Given the description of an element on the screen output the (x, y) to click on. 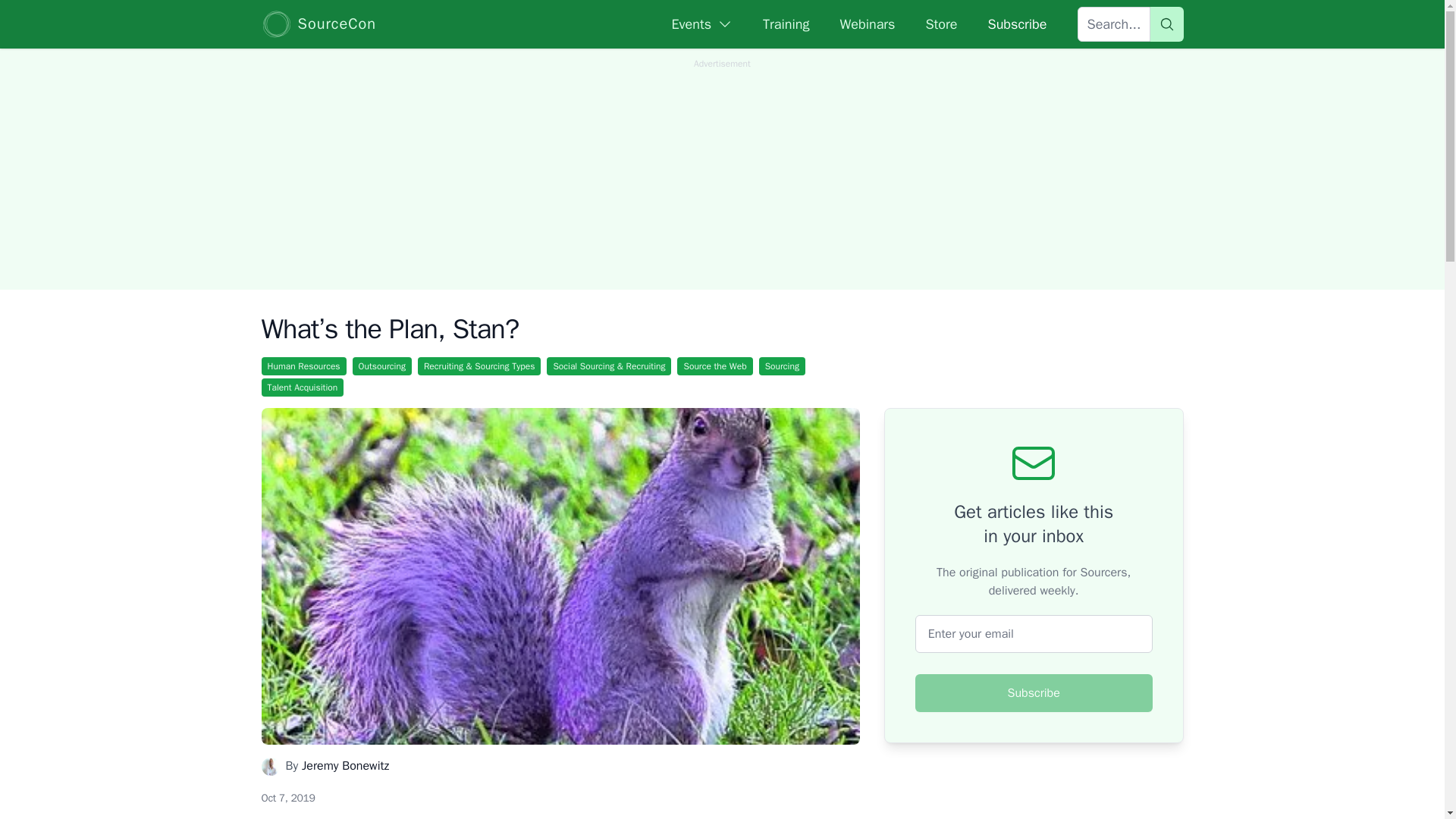
Sourcing (781, 366)
Store (940, 24)
Outsourcing (382, 366)
Human Resources (303, 366)
Training (785, 24)
SourceCon (317, 24)
Subscribe (1034, 692)
Jeremy Bonewitz (344, 765)
Source the Web (714, 366)
Webinars (867, 24)
Subscribe (1016, 24)
Talent Acquisition (301, 387)
Events (702, 24)
